Given the description of an element on the screen output the (x, y) to click on. 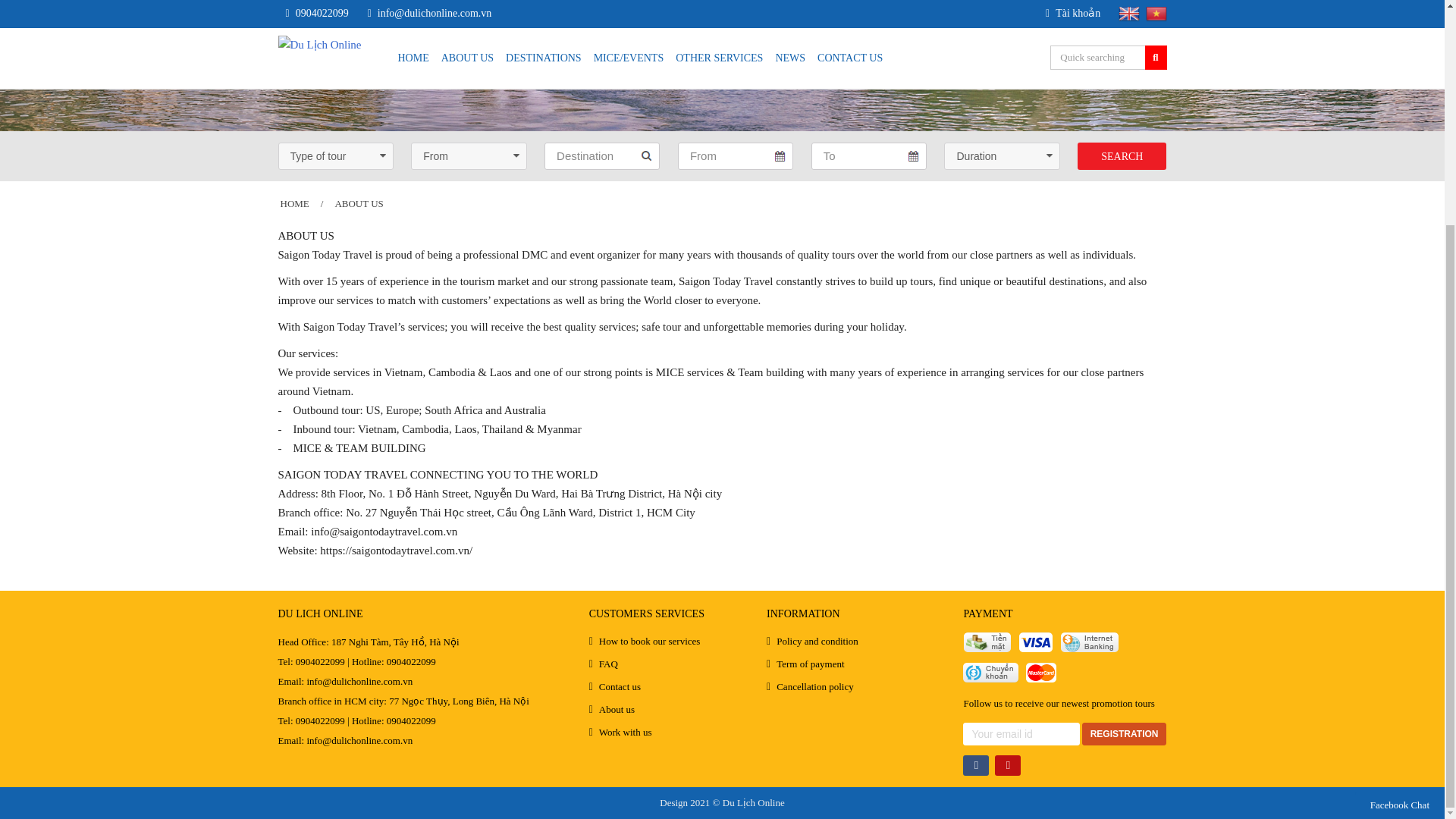
Registration (1124, 733)
About us (358, 203)
